Given the description of an element on the screen output the (x, y) to click on. 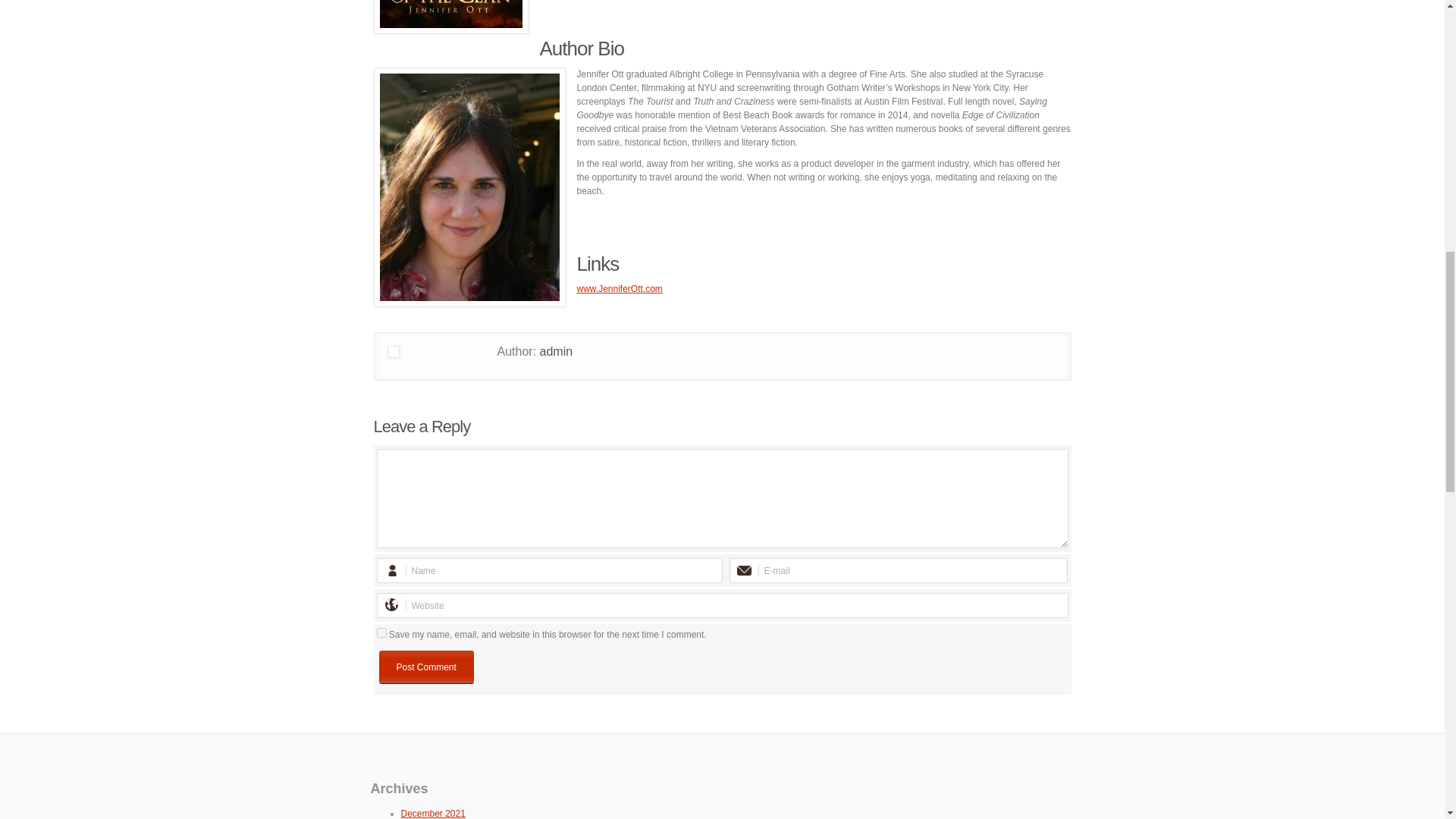
yes (380, 633)
Post Comment (426, 666)
December 2021 (432, 813)
Post Comment (426, 666)
www.JenniferOtt.com (619, 288)
